Given the description of an element on the screen output the (x, y) to click on. 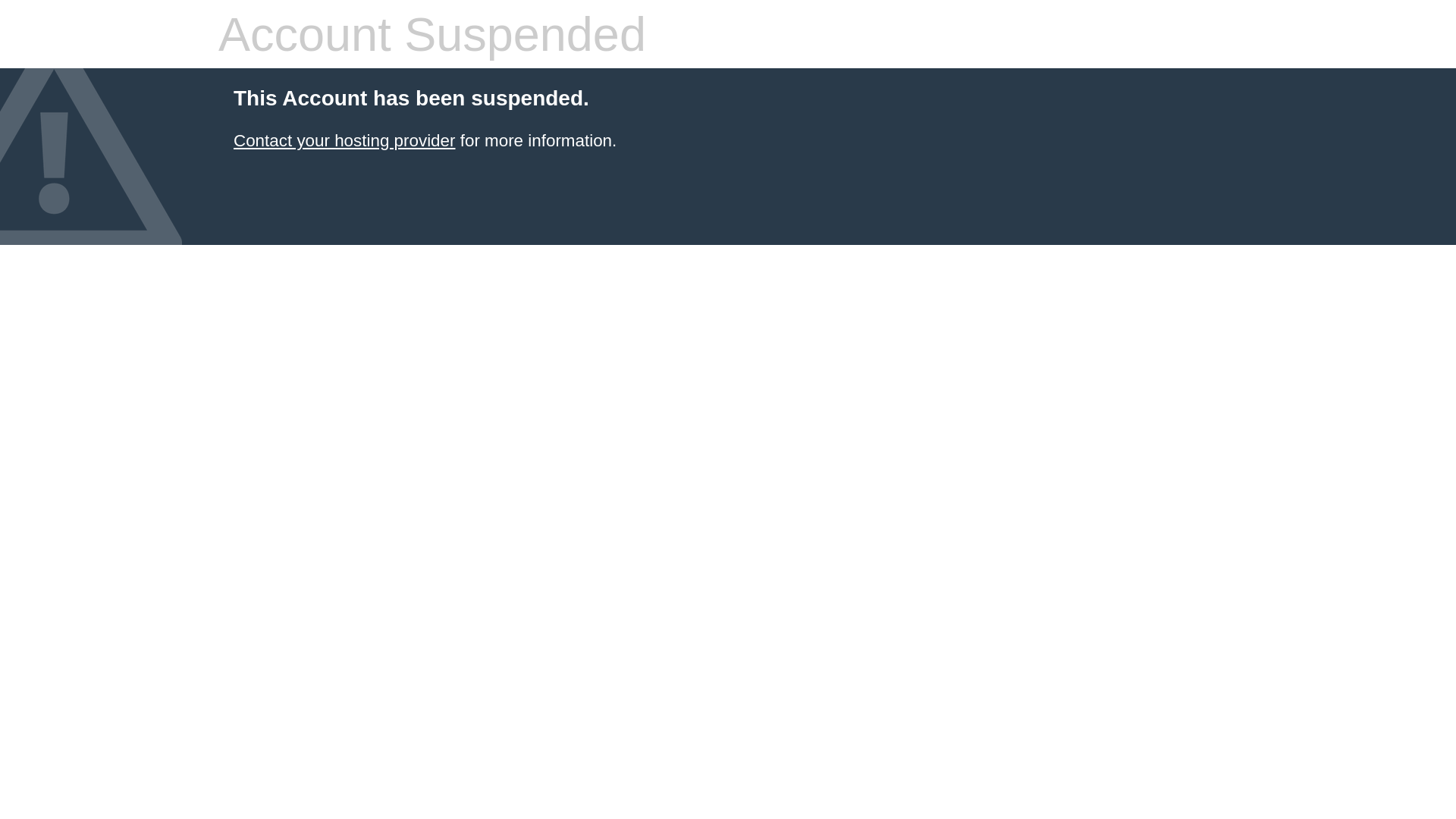
Contact your hosting provider Element type: text (344, 140)
